Given the description of an element on the screen output the (x, y) to click on. 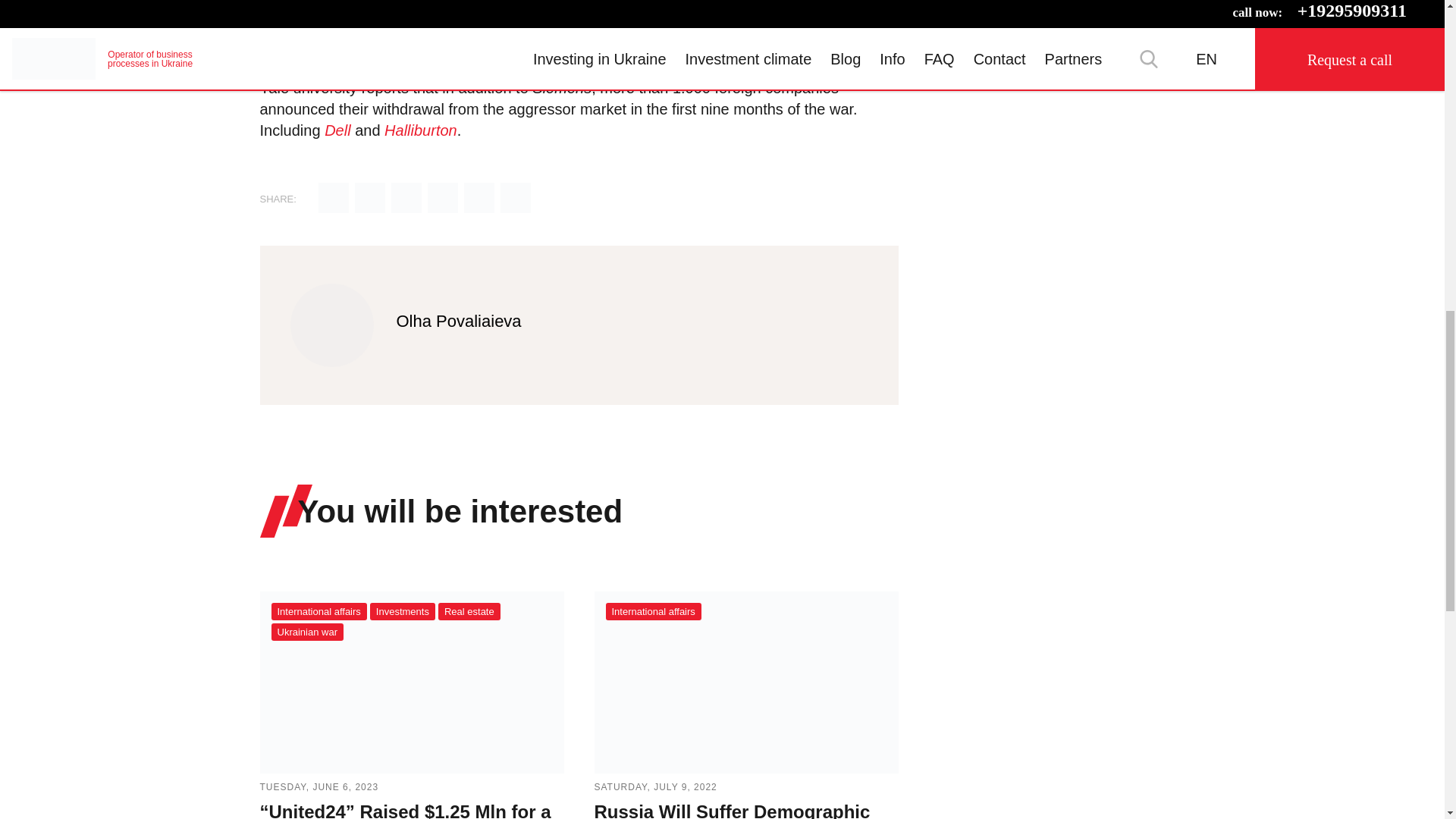
WhatsApp (515, 198)
Twitter (370, 198)
Telegram (443, 198)
Ukrainian war (306, 631)
Real estate (469, 610)
Viber (479, 198)
International affairs (318, 610)
Investments (402, 610)
Email (333, 198)
Facebook (406, 198)
